Given the description of an element on the screen output the (x, y) to click on. 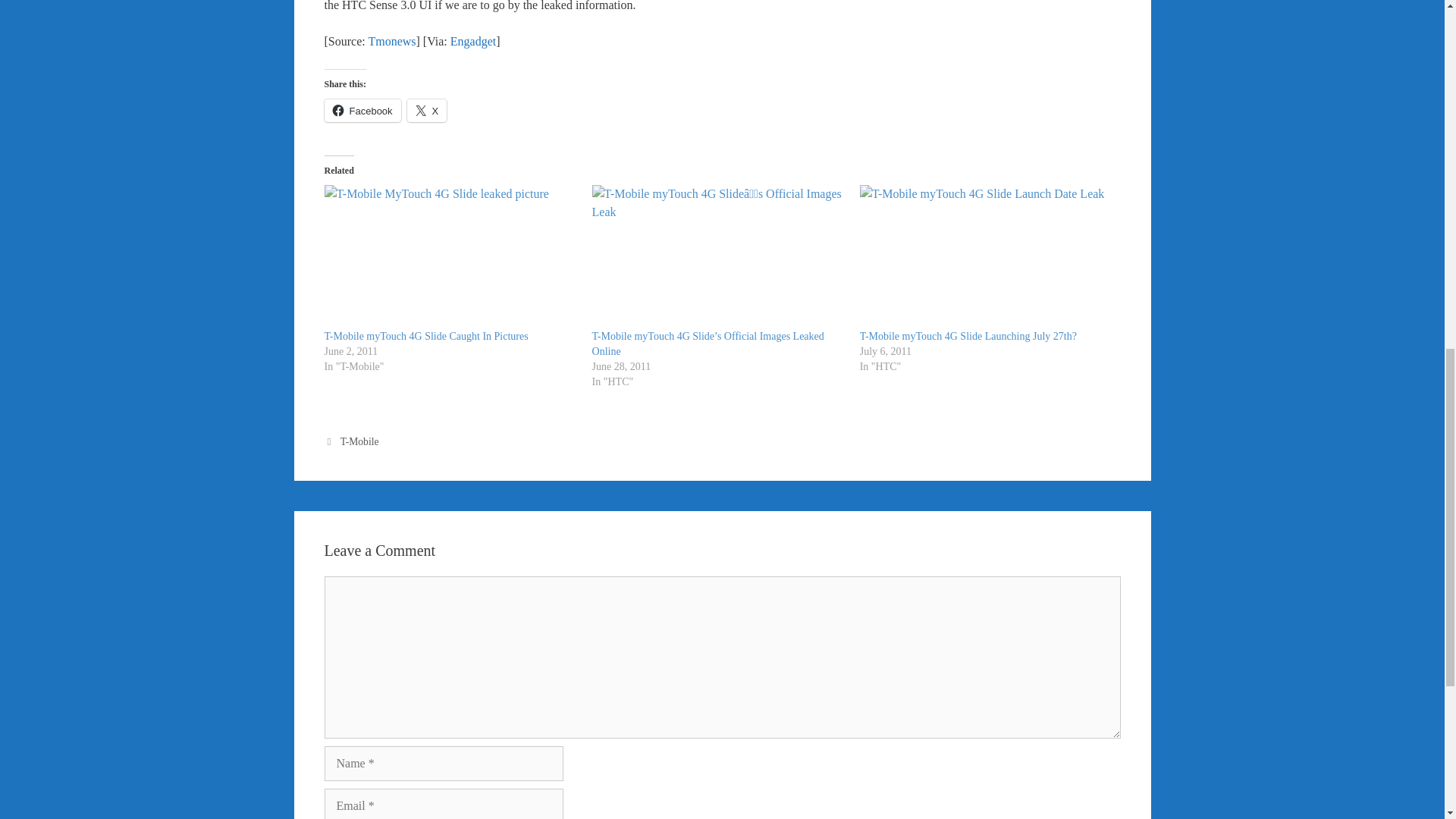
T-Mobile (359, 441)
X (426, 110)
Engadget (472, 41)
T-Mobile myTouch 4G Slide Launching July 27th? (968, 336)
T-Mobile myTouch 4G Slide Caught In Pictures (450, 257)
Tmonews (391, 41)
Facebook (362, 110)
Click to share on Facebook (362, 110)
T-Mobile myTouch 4G Slide Caught In Pictures (426, 336)
T-Mobile myTouch 4G Slide Caught In Pictures (426, 336)
